Given the description of an element on the screen output the (x, y) to click on. 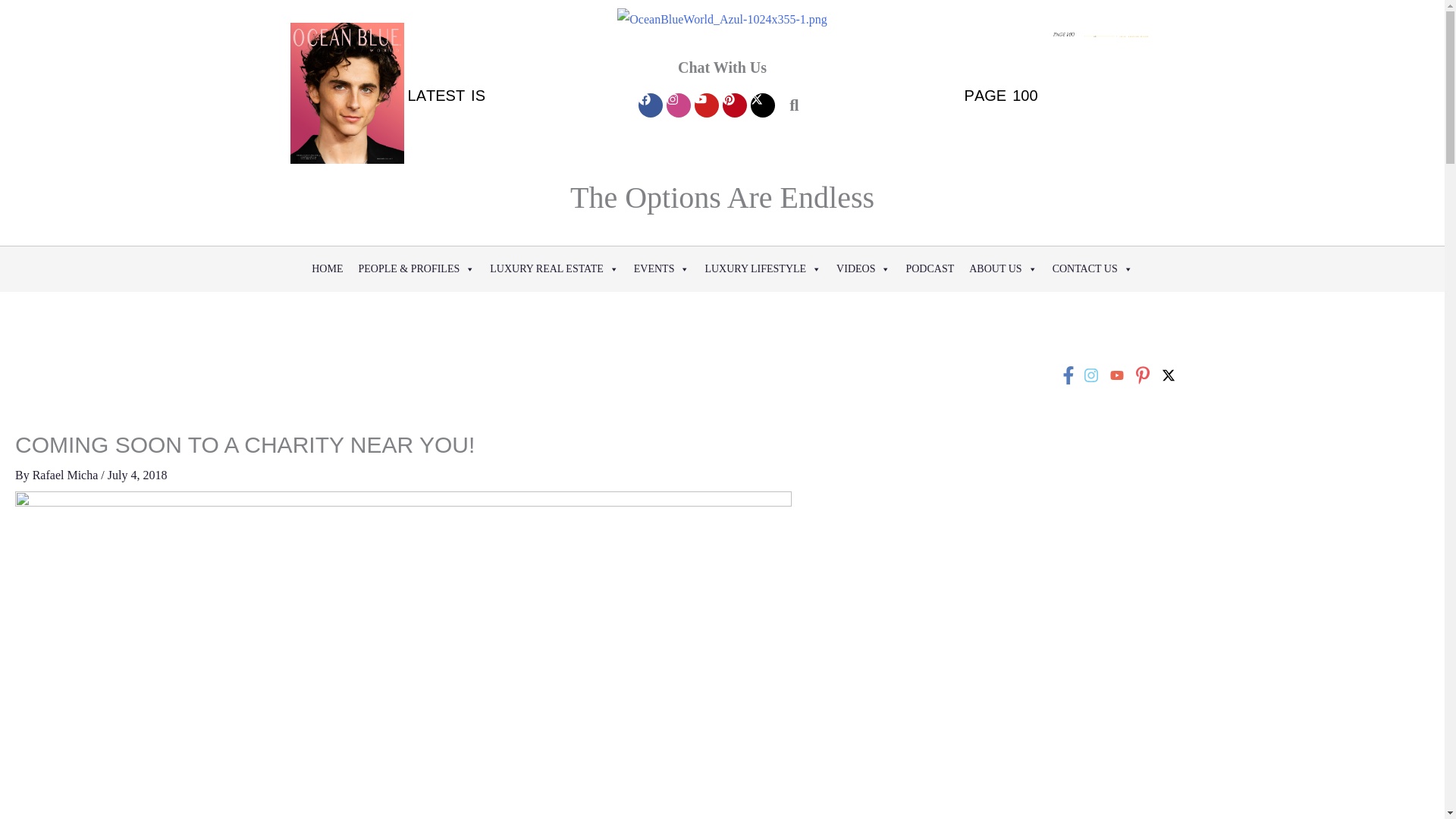
EVENTS (661, 268)
Facebook (650, 105)
Instagram (677, 105)
Pinterest (733, 105)
LUXURY REAL ESTATE (553, 268)
View all posts by Rafael Micha (66, 474)
HOME (327, 268)
X-twitter (762, 105)
Youtube (706, 105)
LUXURY LIFESTYLE (762, 268)
